Given the description of an element on the screen output the (x, y) to click on. 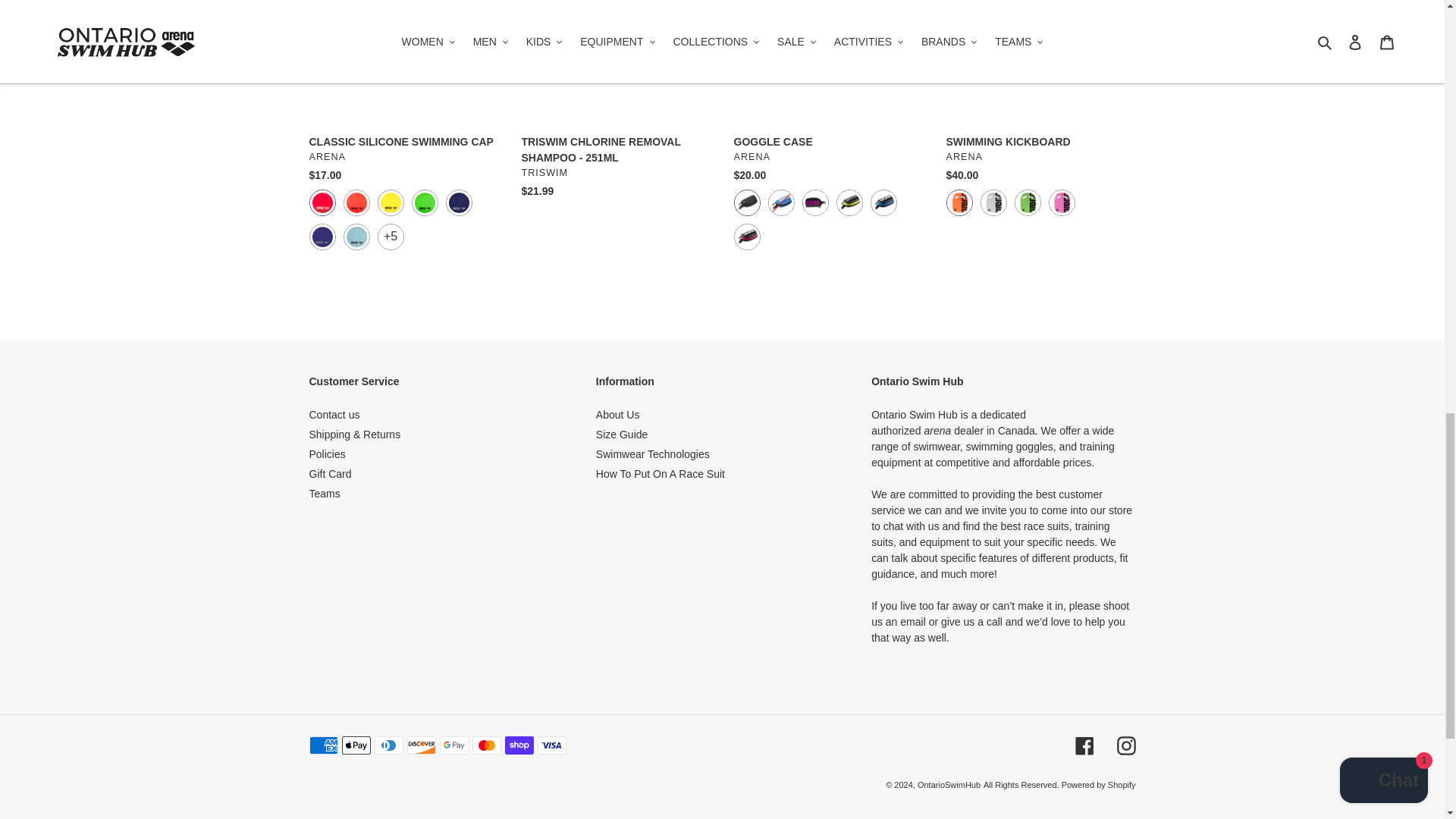
Orange (959, 202)
Pastel Blue (355, 236)
Green (1027, 202)
Diners Club (388, 745)
Apple Pay (354, 745)
American Express (322, 745)
Pink (1061, 202)
Silver (992, 202)
